Given the description of an element on the screen output the (x, y) to click on. 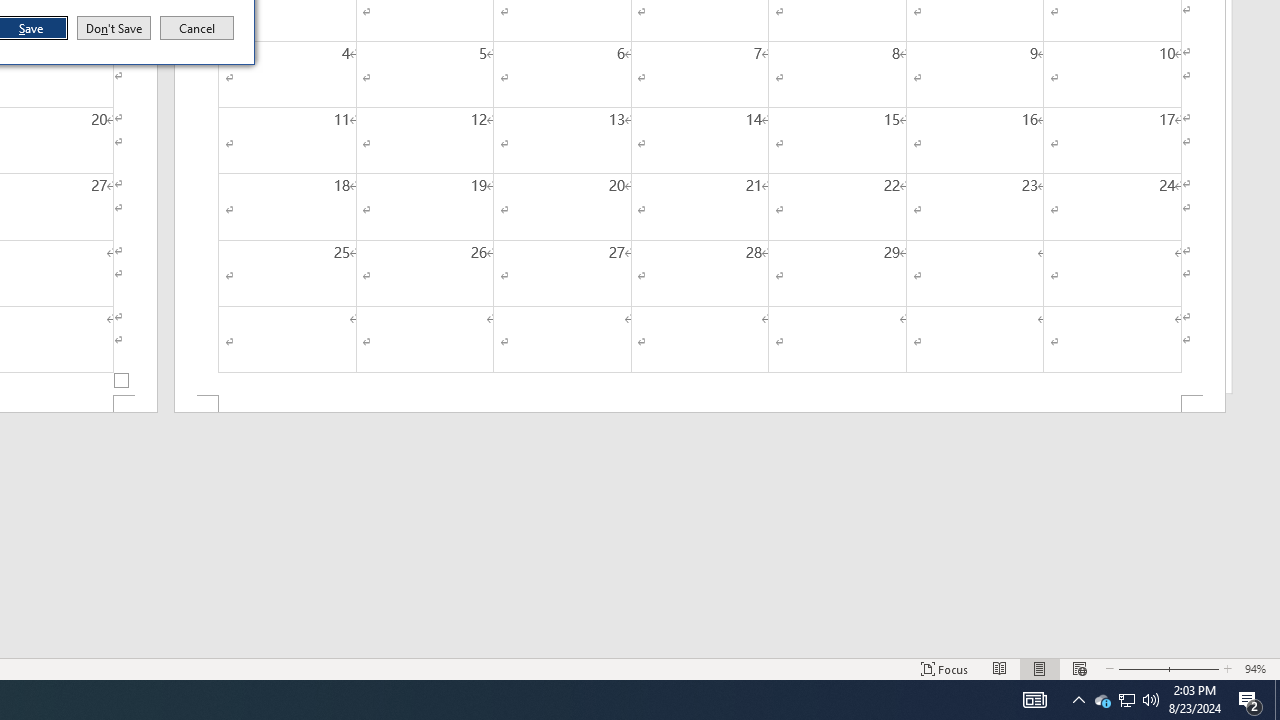
Q2790: 100% (1151, 699)
Show desktop (1126, 699)
User Promoted Notification Area (1277, 699)
Footer -Section 2- (1126, 699)
Action Center, 2 new notifications (700, 404)
AutomationID: 4105 (1250, 699)
